Given the description of an element on the screen output the (x, y) to click on. 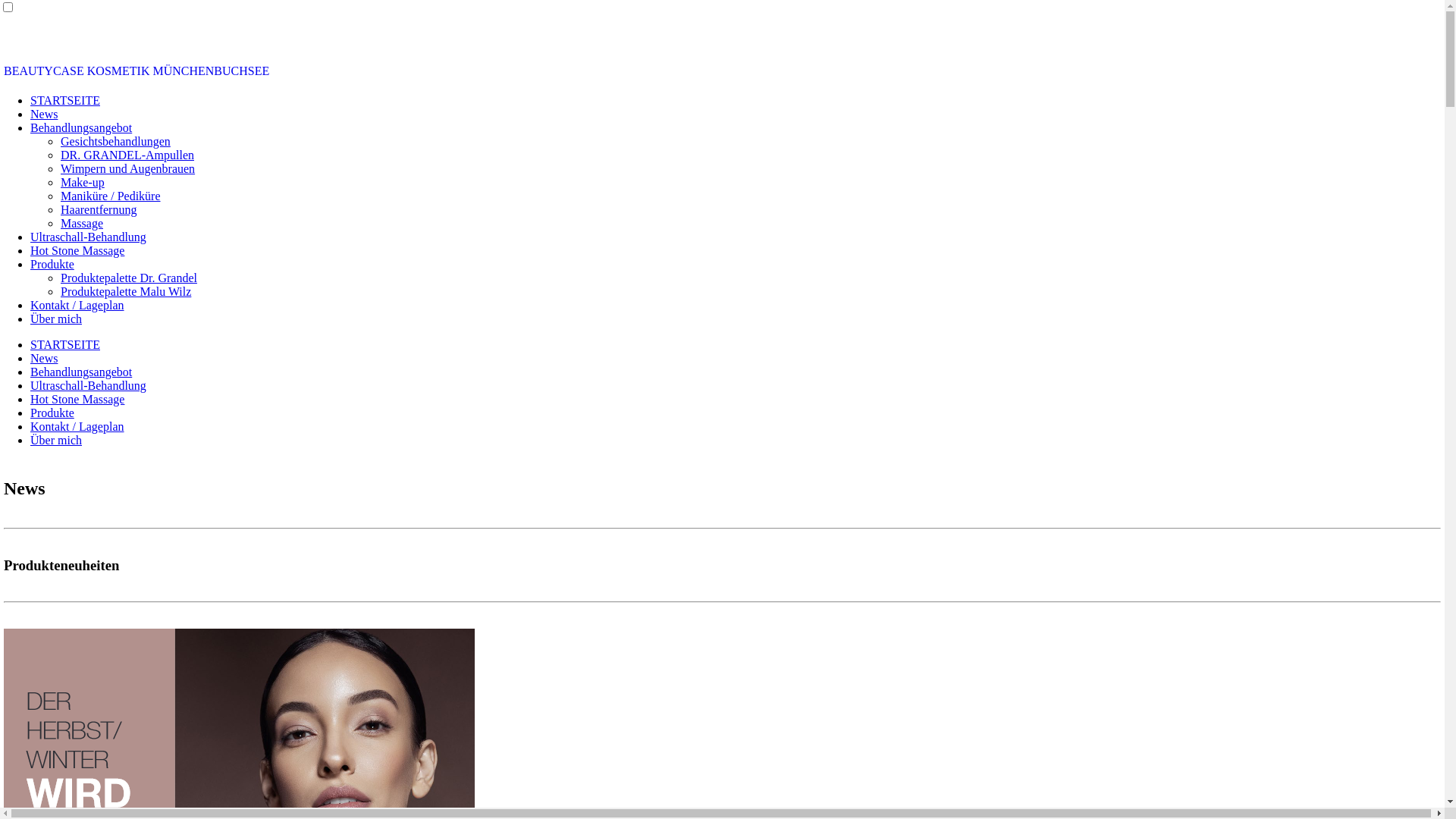
Ultraschall-Behandlung Element type: text (88, 236)
STARTSEITE Element type: text (65, 100)
News Element type: text (43, 113)
Wimpern und Augenbrauen Element type: text (127, 168)
STARTSEITE Element type: text (65, 344)
DR. GRANDEL-Ampullen Element type: text (127, 154)
Produktepalette Dr. Grandel Element type: text (128, 277)
News Element type: text (43, 357)
Hot Stone Massage Element type: text (77, 398)
Haarentfernung Element type: text (98, 209)
Behandlungsangebot Element type: text (80, 371)
Produktepalette Malu Wilz Element type: text (125, 291)
Gesichtsbehandlungen Element type: text (115, 140)
Produkte Element type: text (52, 412)
Make-up Element type: text (82, 181)
Ultraschall-Behandlung Element type: text (88, 385)
Behandlungsangebot Element type: text (80, 127)
Massage Element type: text (81, 222)
Kontakt / Lageplan Element type: text (77, 304)
Hot Stone Massage Element type: text (77, 250)
Kontakt / Lageplan Element type: text (77, 426)
Produkte Element type: text (52, 263)
